Given the description of an element on the screen output the (x, y) to click on. 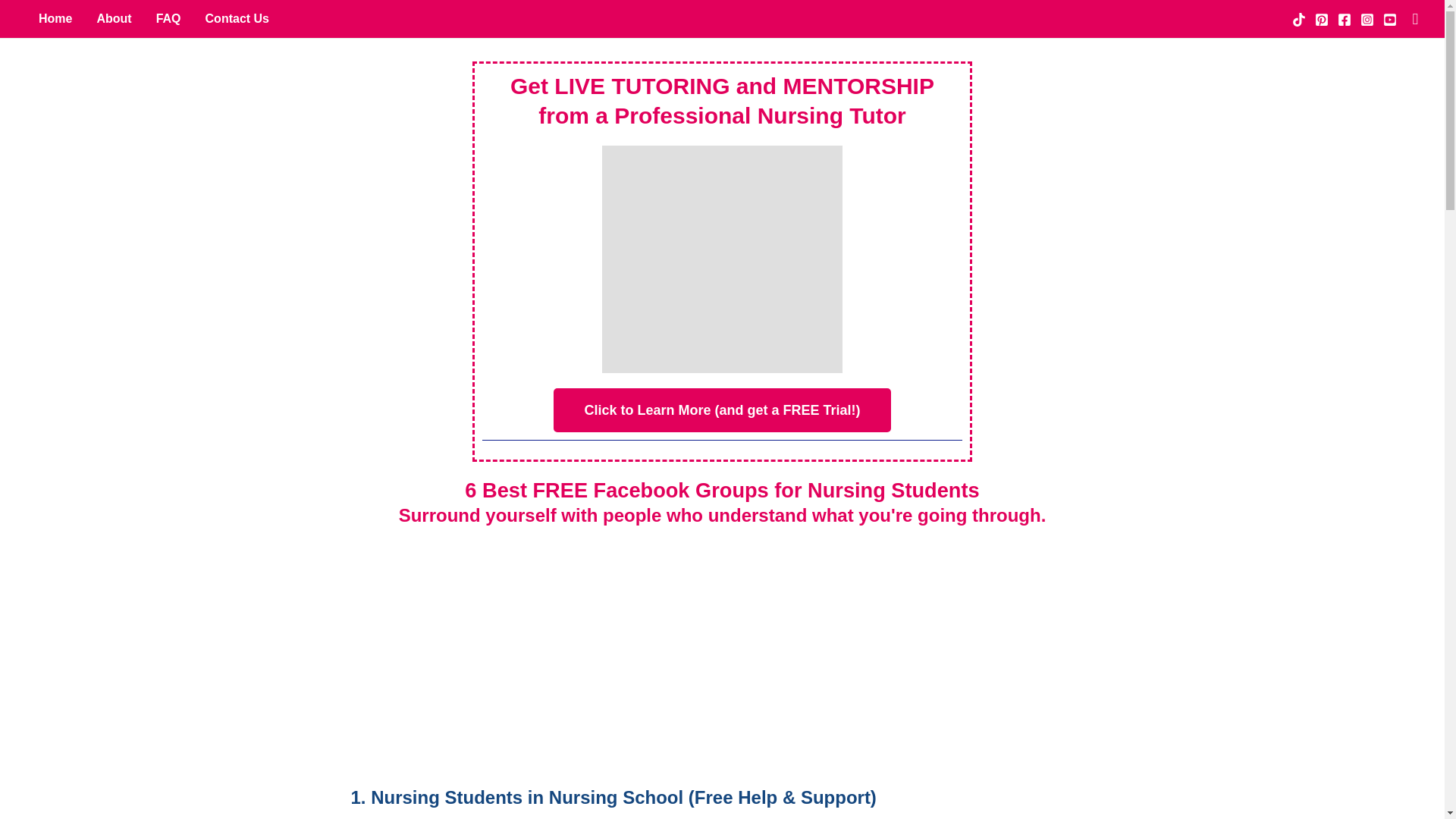
Contact Us (237, 18)
About (113, 18)
Home (55, 18)
FAQ (168, 18)
